Given the description of an element on the screen output the (x, y) to click on. 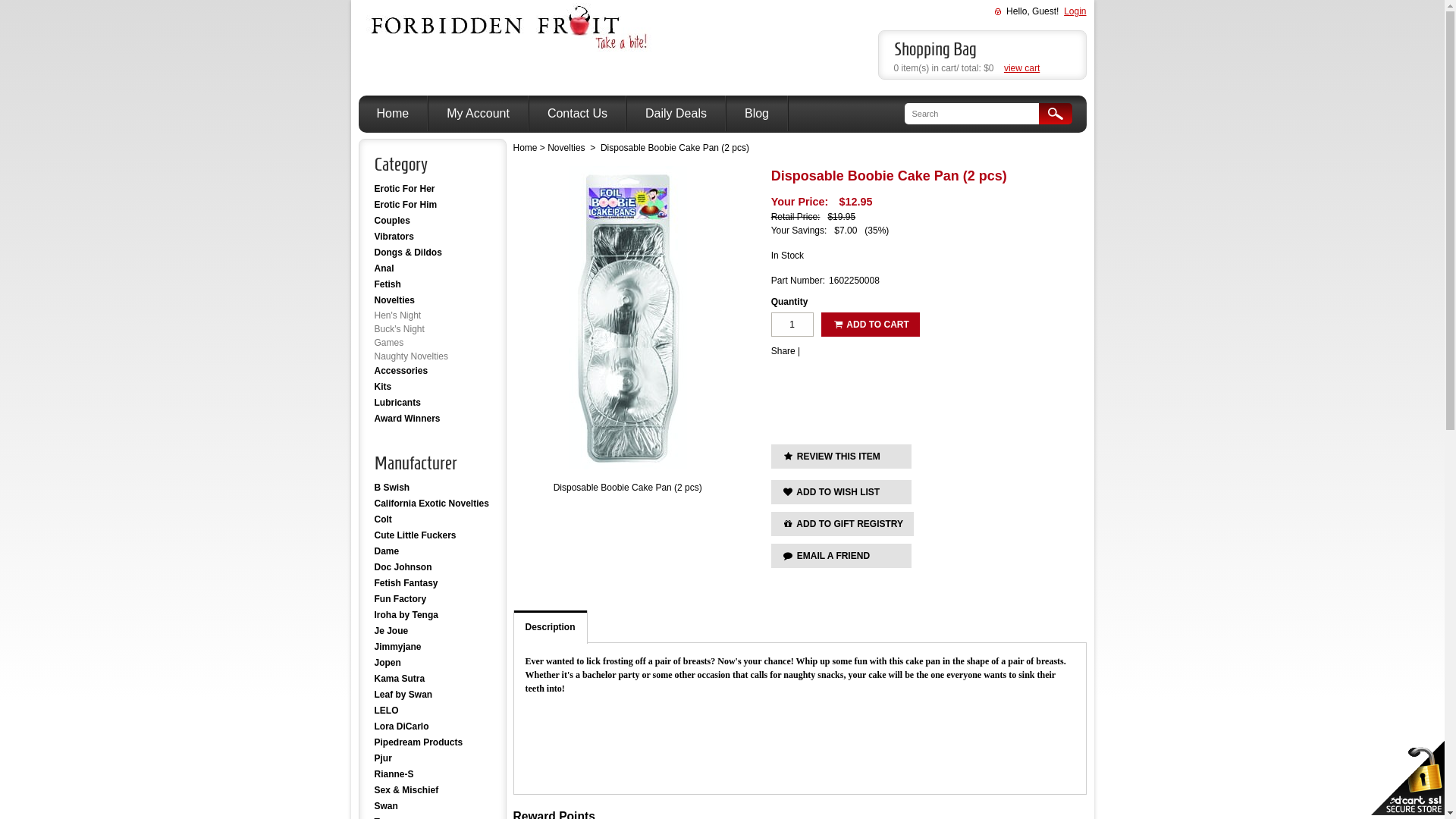
Leaf by Swan Element type: text (432, 694)
Rianne-S Element type: text (432, 774)
Kits Element type: text (432, 387)
Colt Element type: text (432, 519)
Couples Element type: text (432, 221)
ADD TO WISH LIST Element type: text (841, 492)
California Exotic Novelties Element type: text (432, 503)
Buck's Night Element type: text (399, 328)
Kama Sutra Element type: text (432, 679)
Cute Little Fuckers Element type: text (432, 535)
Home Element type: text (391, 112)
Erotic For Her Element type: text (432, 189)
Jopen Element type: text (432, 663)
Fetish Element type: text (432, 284)
Dongs & Dildos Element type: text (432, 252)
Lora DiCarlo Element type: text (432, 726)
home Element type: text (507, 48)
Games Element type: text (389, 342)
view cart Element type: text (1021, 67)
Vibrators Element type: text (432, 236)
Erotic For Him Element type: text (432, 205)
Daily Deals Element type: text (675, 112)
Novelties Element type: text (567, 147)
Novelties Element type: text (432, 300)
Dame Element type: text (432, 551)
Je Joue Element type: text (432, 631)
Description Element type: text (550, 625)
Pipedream Products Element type: text (432, 742)
Anal Element type: text (432, 268)
ADD TO GIFT REGISTRY Element type: text (842, 523)
Blog Element type: text (756, 112)
Accessories Element type: text (432, 371)
Lubricants Element type: text (432, 403)
Fun Factory Element type: text (432, 599)
Share Element type: text (783, 350)
Swan Element type: text (432, 806)
ADD TO CART Element type: text (870, 324)
LELO Element type: text (432, 710)
Hen's Night Element type: text (397, 315)
EMAIL A FRIEND Element type: text (841, 555)
B Swish Element type: text (432, 487)
Pjur Element type: text (432, 758)
Jimmyjane Element type: text (432, 647)
Doc Johnson Element type: text (432, 567)
Naughty Novelties Element type: text (411, 356)
Login Element type: text (1074, 11)
Iroha by Tenga Element type: text (432, 615)
My Account Element type: text (477, 112)
Contact Us Element type: text (577, 112)
Fetish Fantasy Element type: text (432, 583)
Sex & Mischief Element type: text (432, 790)
REVIEW THIS ITEM Element type: text (841, 456)
Home Element type: text (524, 147)
Award Winners Element type: text (432, 418)
